Given the description of an element on the screen output the (x, y) to click on. 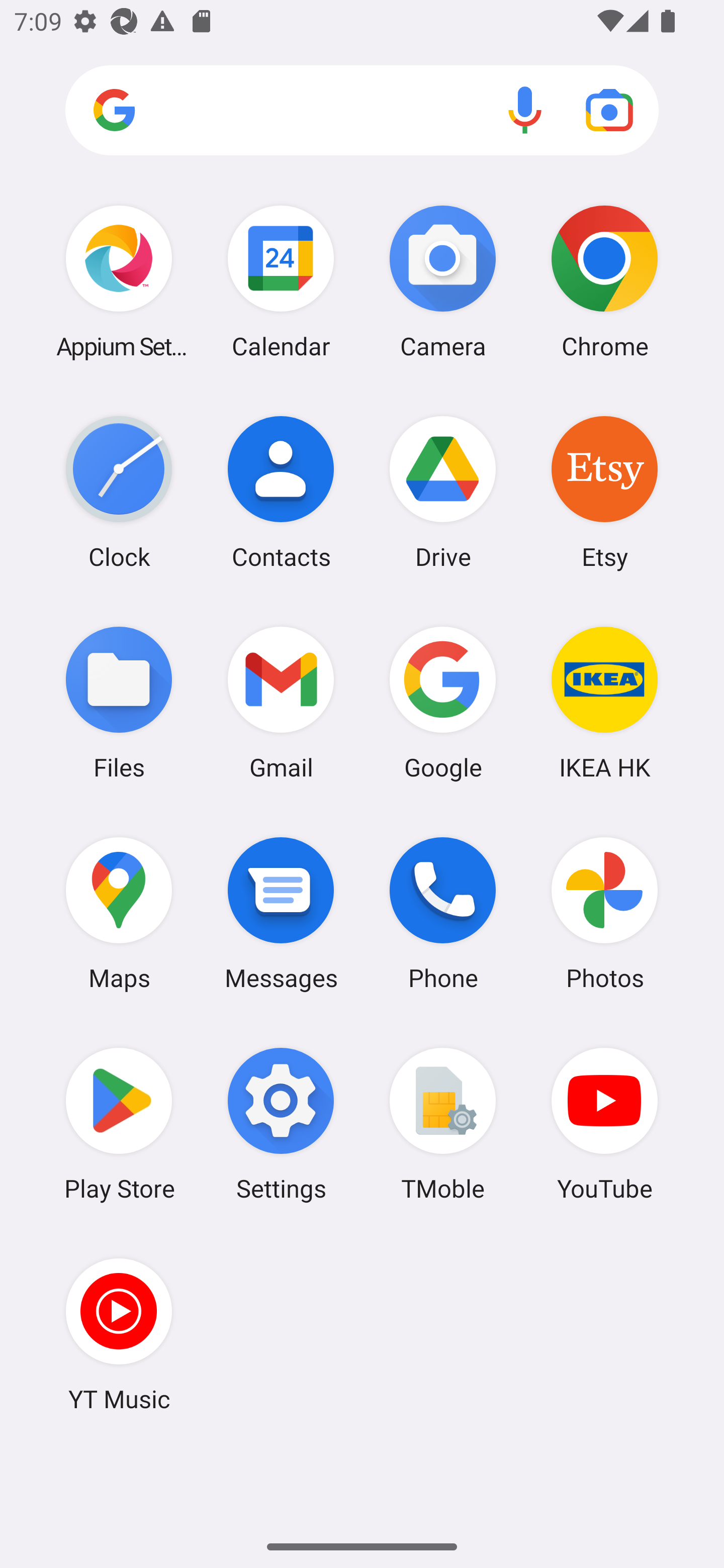
Search apps, web and more (361, 110)
Voice search (524, 109)
Google Lens (608, 109)
Appium Settings (118, 281)
Calendar (280, 281)
Camera (443, 281)
Chrome (604, 281)
Clock (118, 492)
Contacts (280, 492)
Drive (443, 492)
Etsy (604, 492)
Files (118, 702)
Gmail (280, 702)
Google (443, 702)
IKEA HK (604, 702)
Maps (118, 913)
Messages (280, 913)
Phone (443, 913)
Photos (604, 913)
Play Store (118, 1124)
Settings (280, 1124)
TMoble (443, 1124)
YouTube (604, 1124)
YT Music (118, 1334)
